Given the description of an element on the screen output the (x, y) to click on. 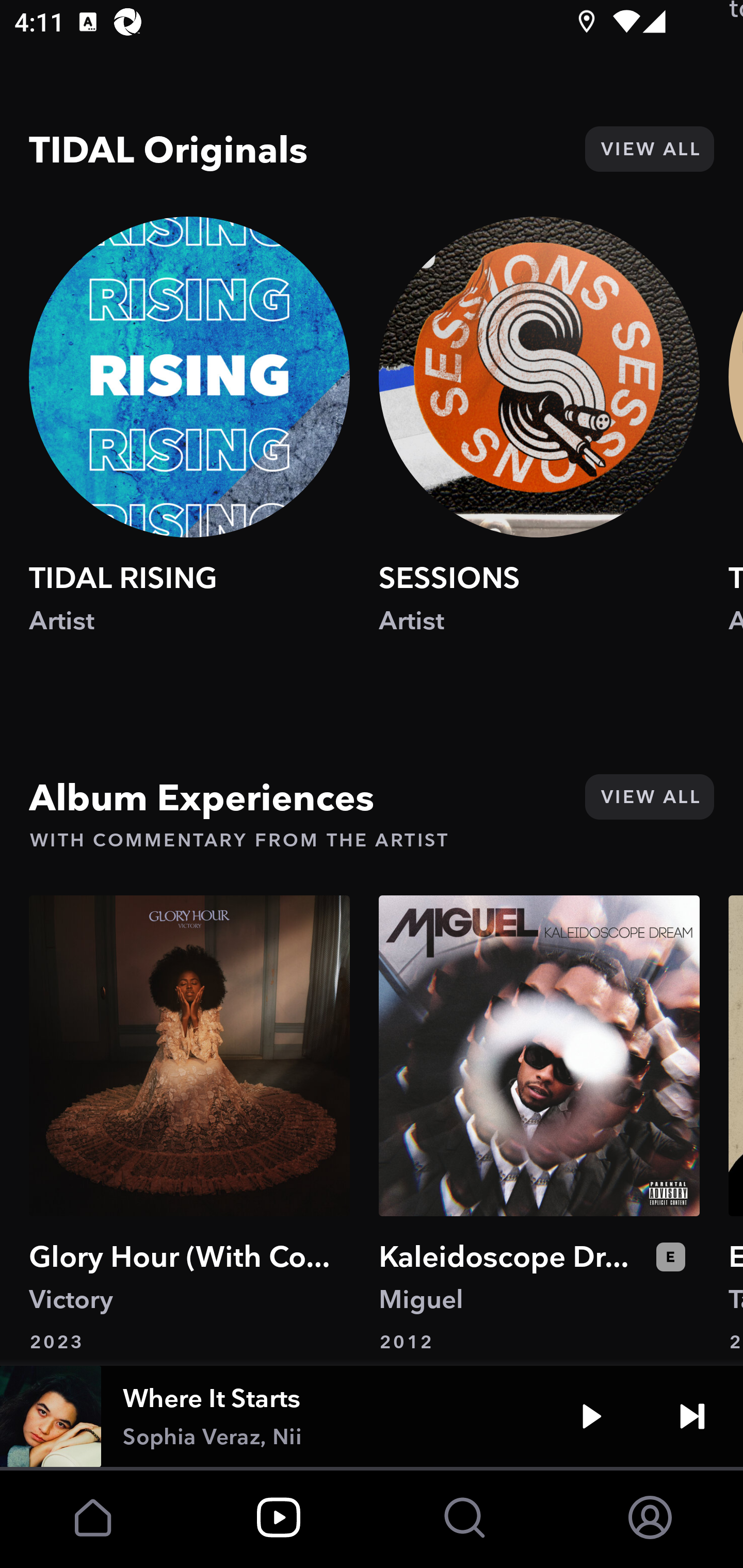
VIEW ALL (649, 149)
TIDAL RISING Artist (188, 444)
SESSIONS Artist (538, 444)
VIEW ALL (649, 797)
Glory Hour (With Commentary) Victory 2023 (188, 1124)
Kaleidoscope Dream (With Commentary) Miguel 2012 (538, 1124)
Where It Starts Sophia Veraz, Nii Play (371, 1416)
Play (590, 1416)
